Given the description of an element on the screen output the (x, y) to click on. 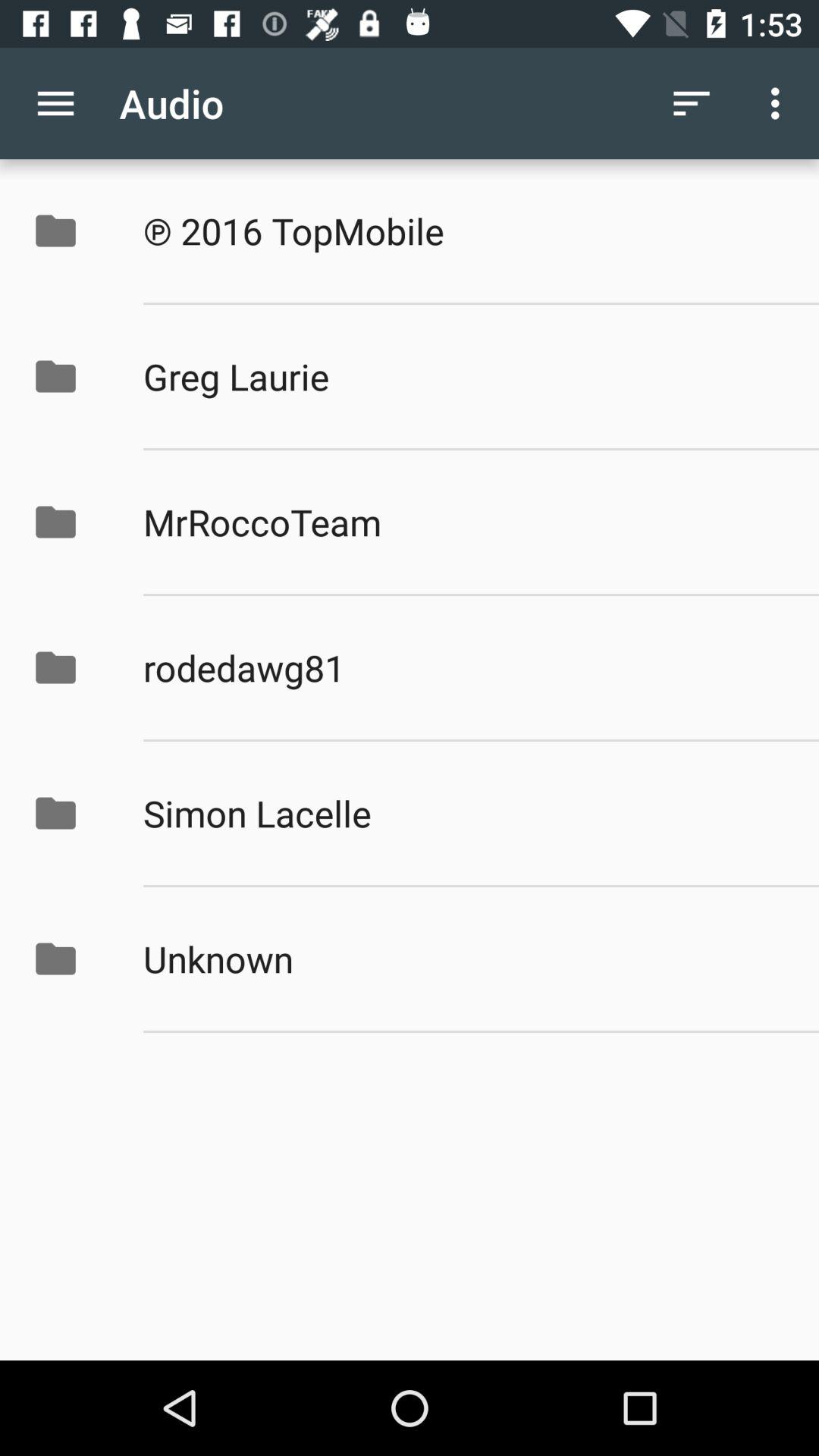
jump to the unknown icon (465, 958)
